Given the description of an element on the screen output the (x, y) to click on. 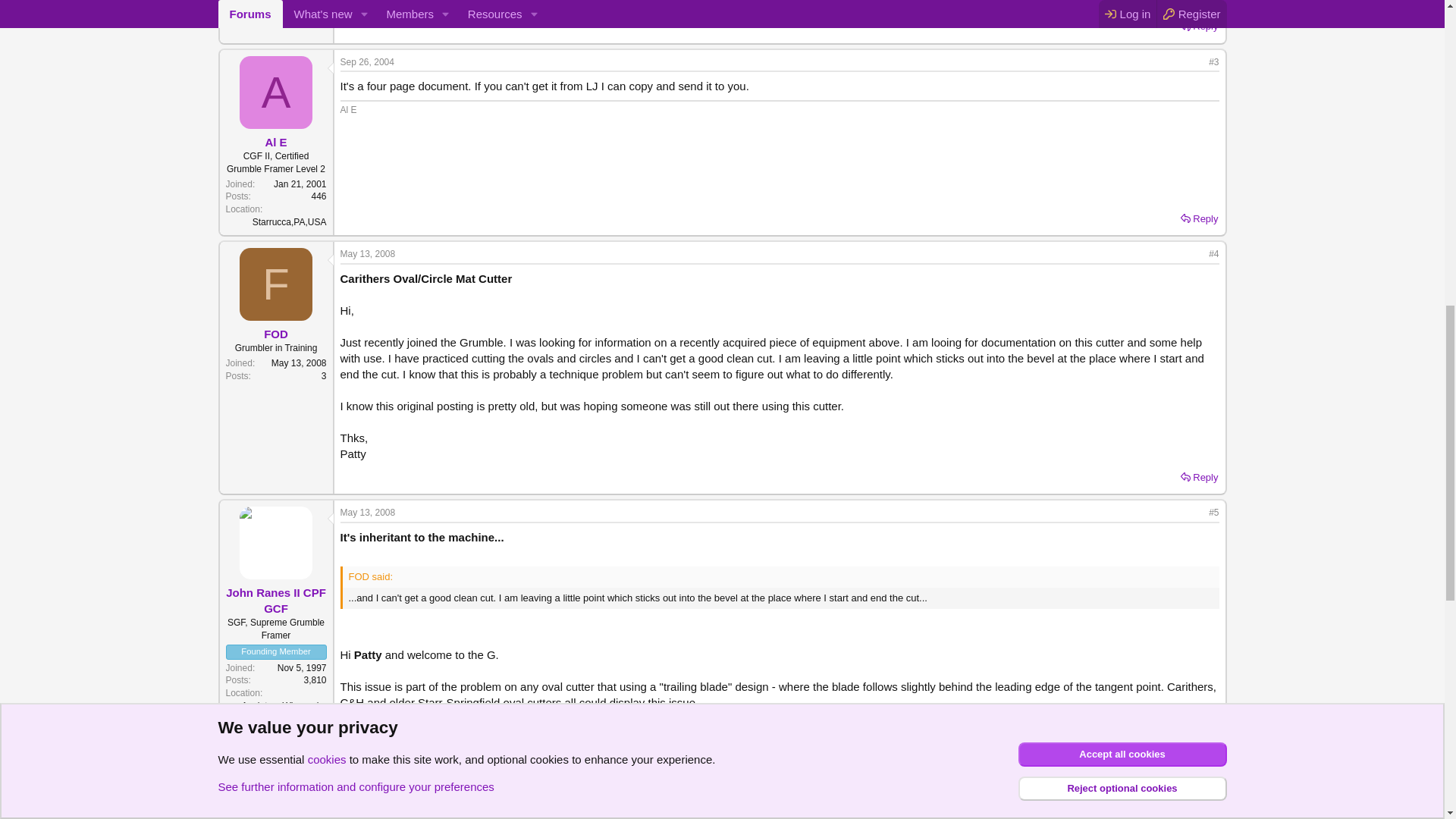
May 13, 2008 at 10:53 AM (366, 511)
Reply, quoting this message (1199, 26)
Sep 26, 2004 at 4:39 AM (366, 61)
Reply, quoting this message (1199, 477)
Reply, quoting this message (1199, 219)
May 13, 2008 at 10:34 AM (366, 253)
